Given the description of an element on the screen output the (x, y) to click on. 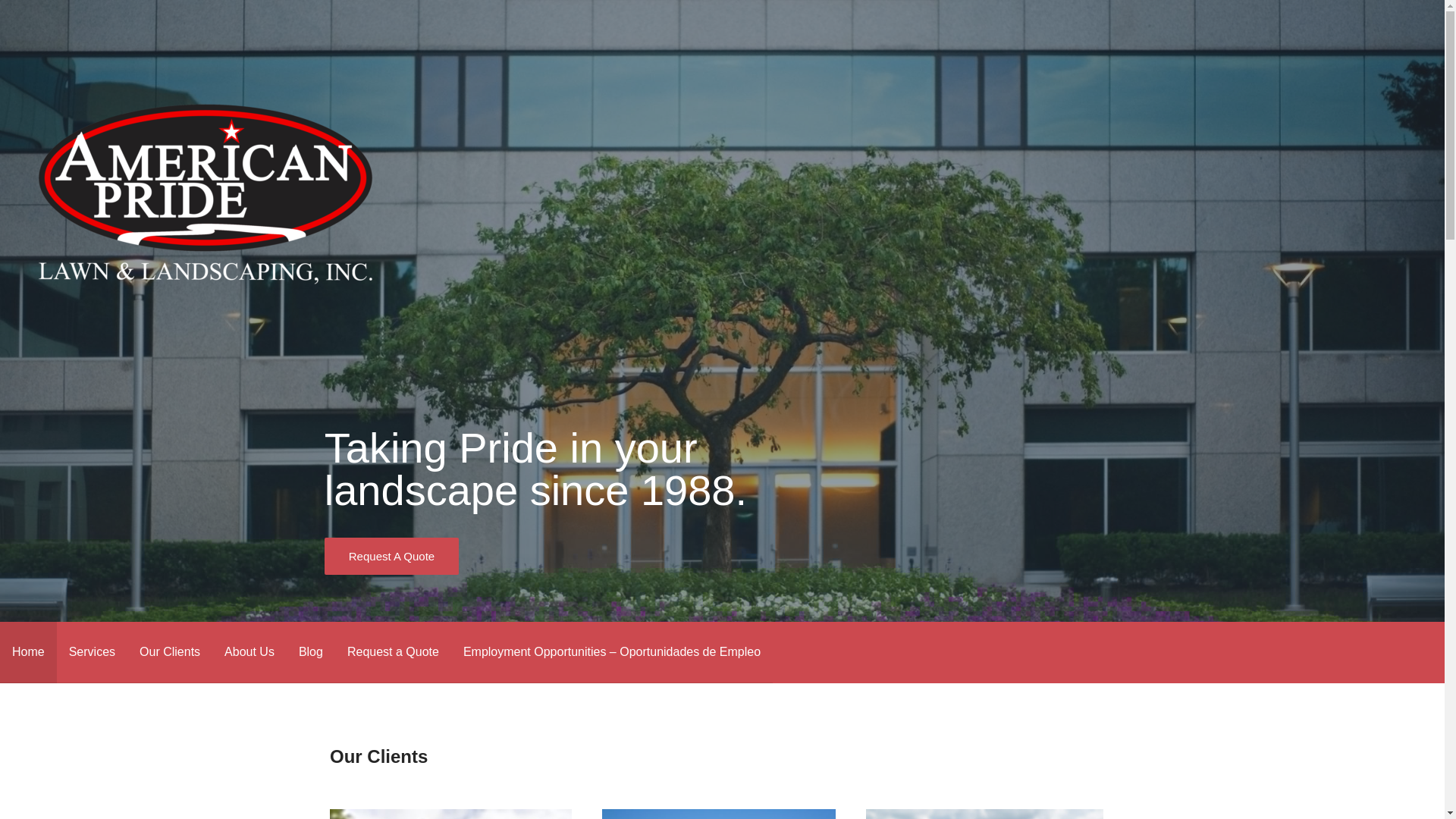
Request a Quote (392, 652)
Our Clients (170, 652)
Homeowners - 12.31 (718, 814)
About Us (249, 652)
Services (92, 652)
Home (28, 652)
Upscale Shopping Center - Commercial Services (451, 814)
Request A Quote (391, 555)
Distribution Center - Industrial Services (984, 814)
